Given the description of an element on the screen output the (x, y) to click on. 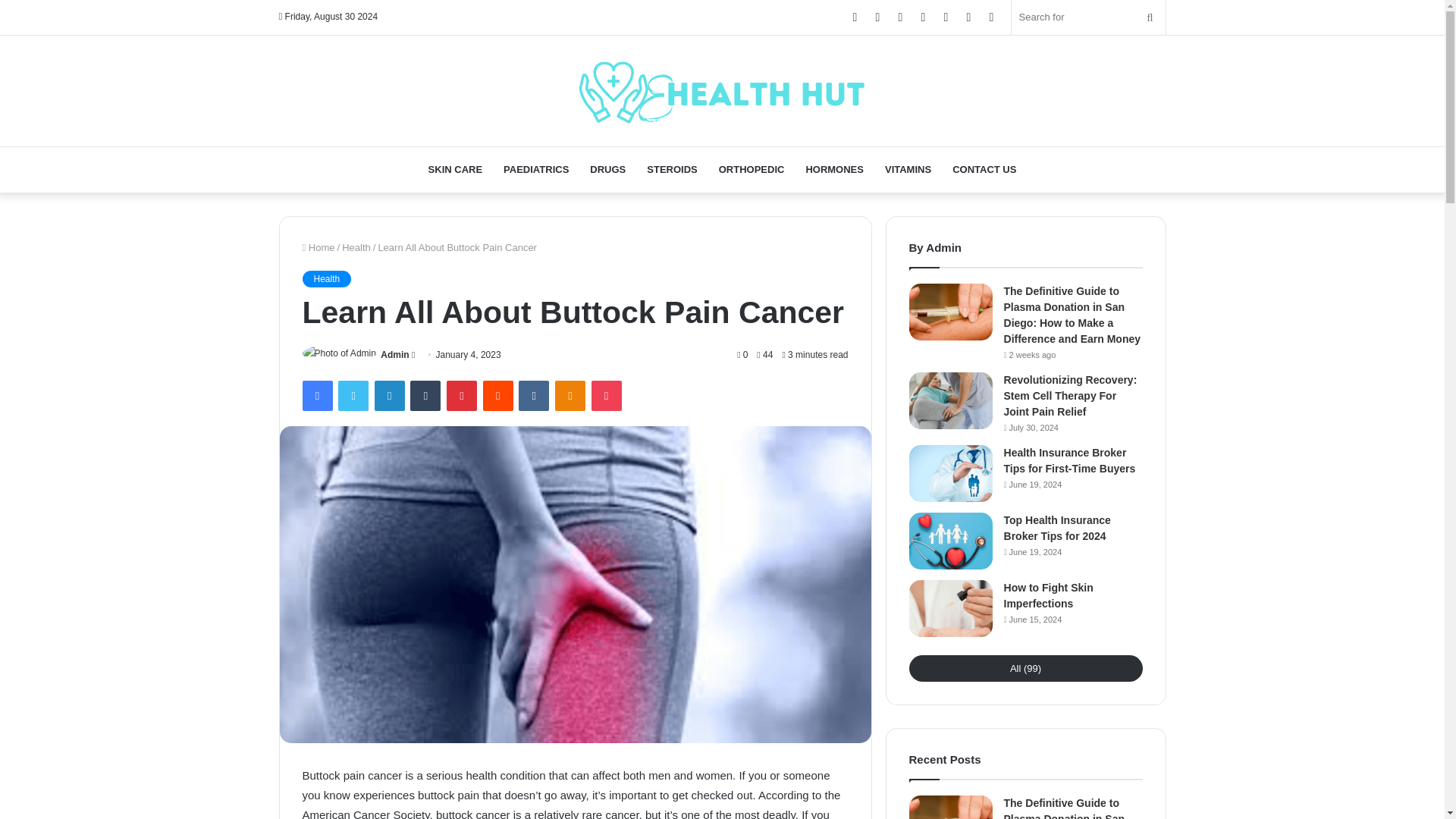
Admin (394, 354)
Health (356, 246)
CONTACT US (984, 169)
Pinterest (461, 395)
Facebook (316, 395)
Facebook (316, 395)
LinkedIn (389, 395)
Tumblr (425, 395)
Home (317, 246)
Tumblr (425, 395)
